Given the description of an element on the screen output the (x, y) to click on. 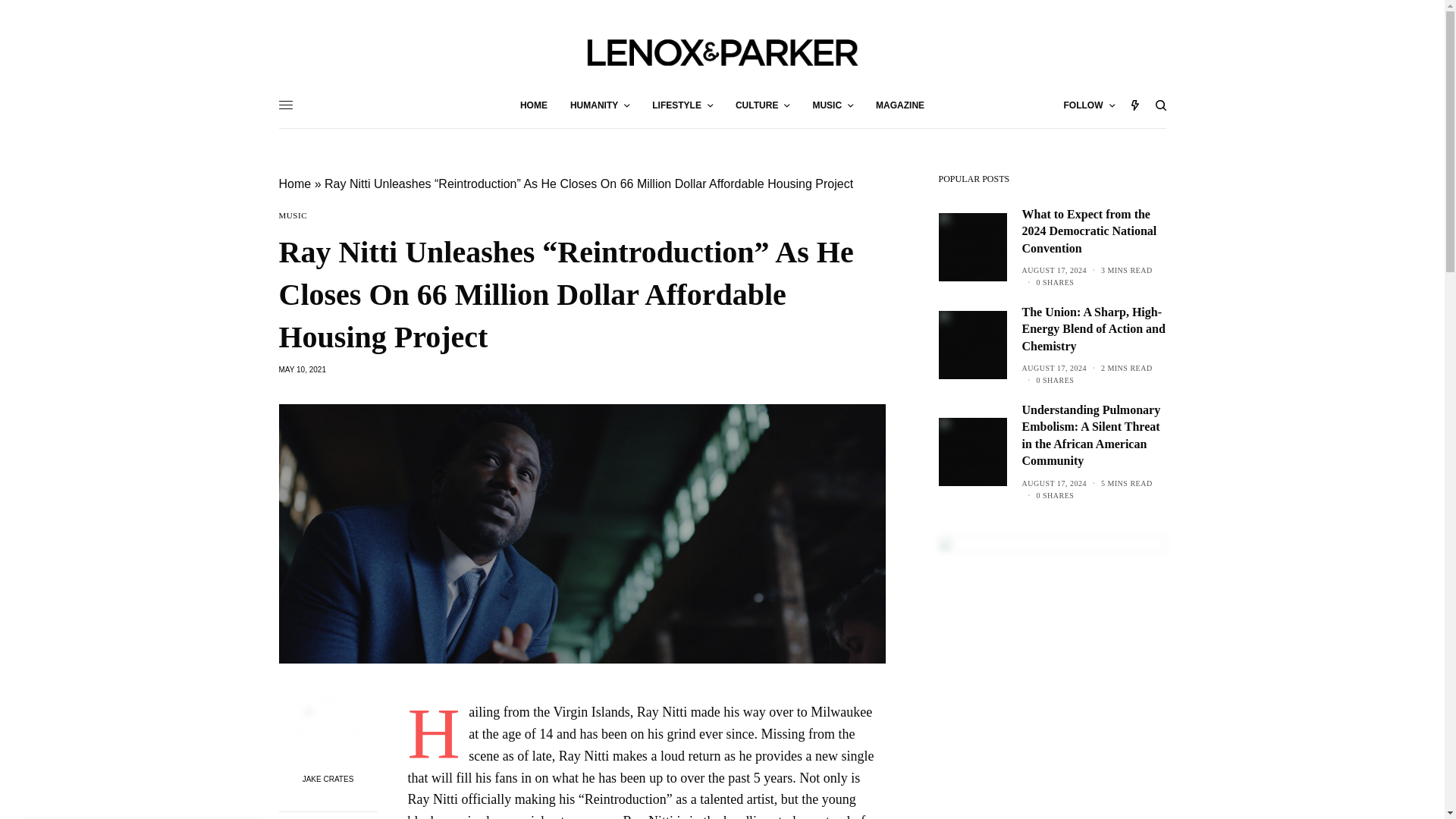
MUSIC (832, 104)
MAGAZINE (900, 104)
FOLLOW (1089, 104)
HUMANITY (599, 104)
JAKE CRATES (328, 778)
Home (295, 183)
What to Expect from the 2024 Democratic National Convention (1094, 231)
LIFESTYLE (682, 104)
Lenox and Parker (720, 50)
